Given the description of an element on the screen output the (x, y) to click on. 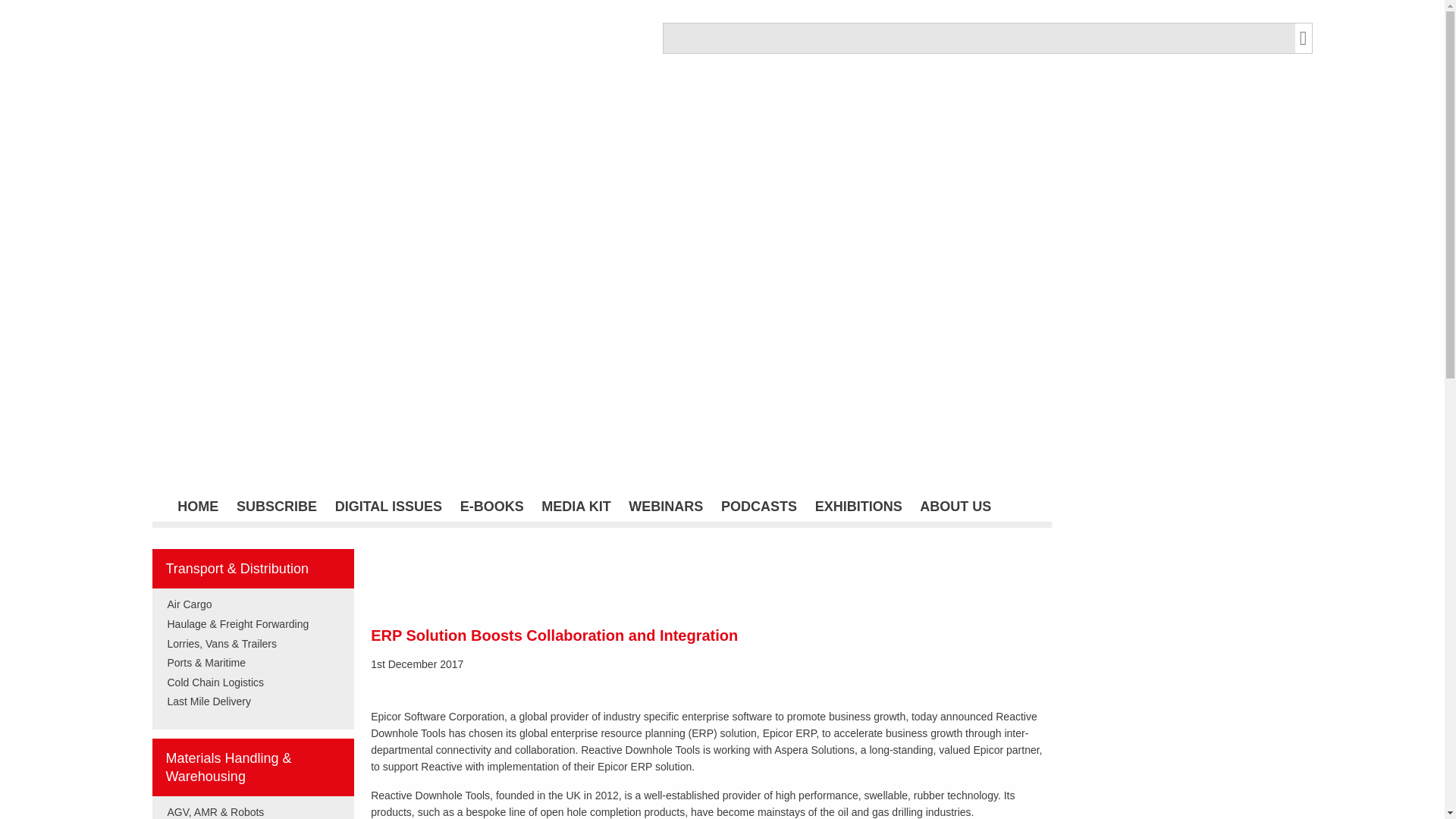
Search for: (978, 38)
